Given the description of an element on the screen output the (x, y) to click on. 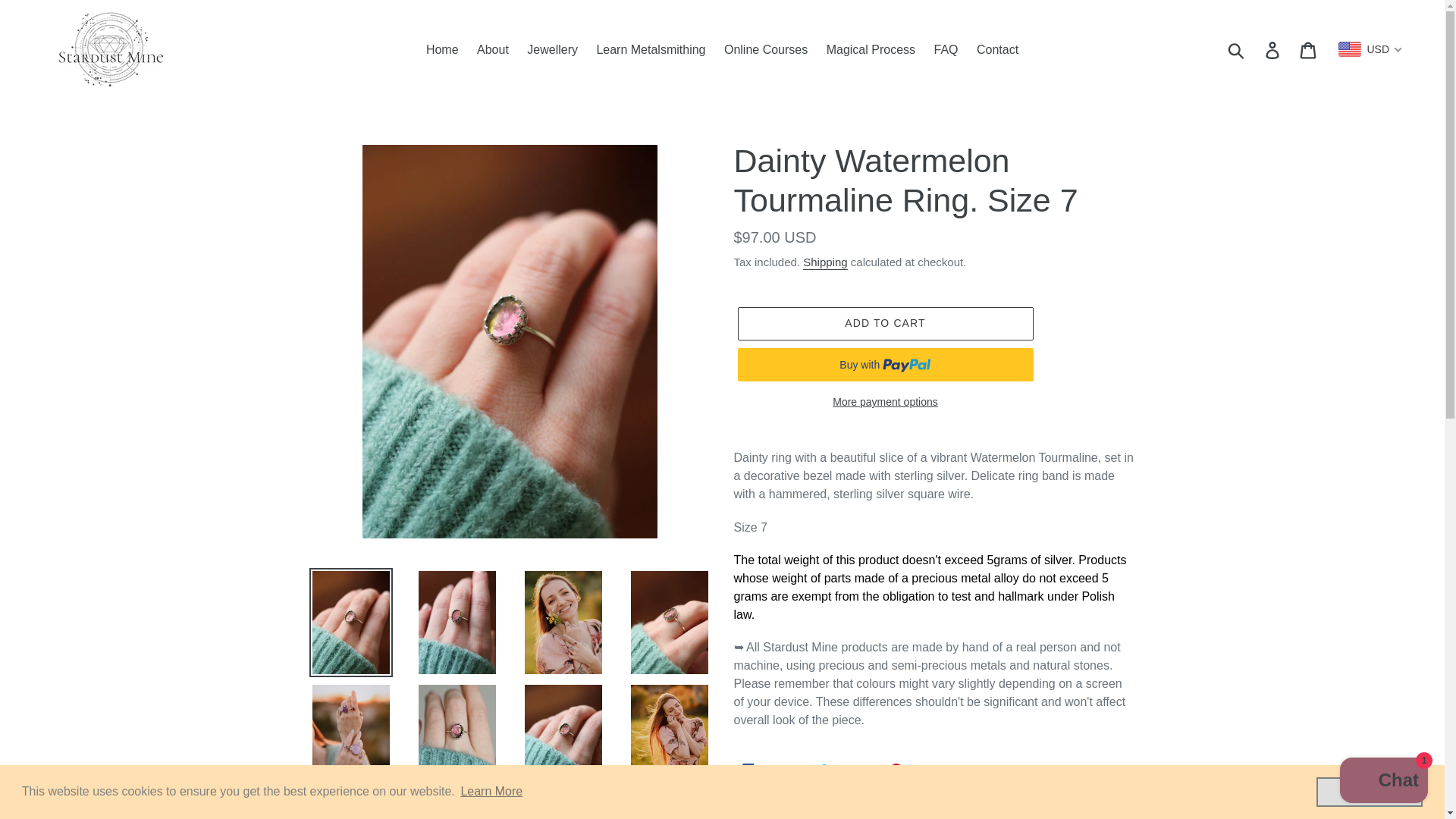
Shopify online store chat (1383, 781)
Learn Metalsmithing (650, 48)
Home (442, 48)
Learn More (491, 791)
Log in (1273, 49)
Cart (1308, 49)
Magical Process (870, 48)
Got it! (1369, 791)
About (492, 48)
FAQ (946, 48)
Online Courses (765, 48)
Contact (997, 48)
Submit (1236, 49)
Jewellery (552, 48)
